Given the description of an element on the screen output the (x, y) to click on. 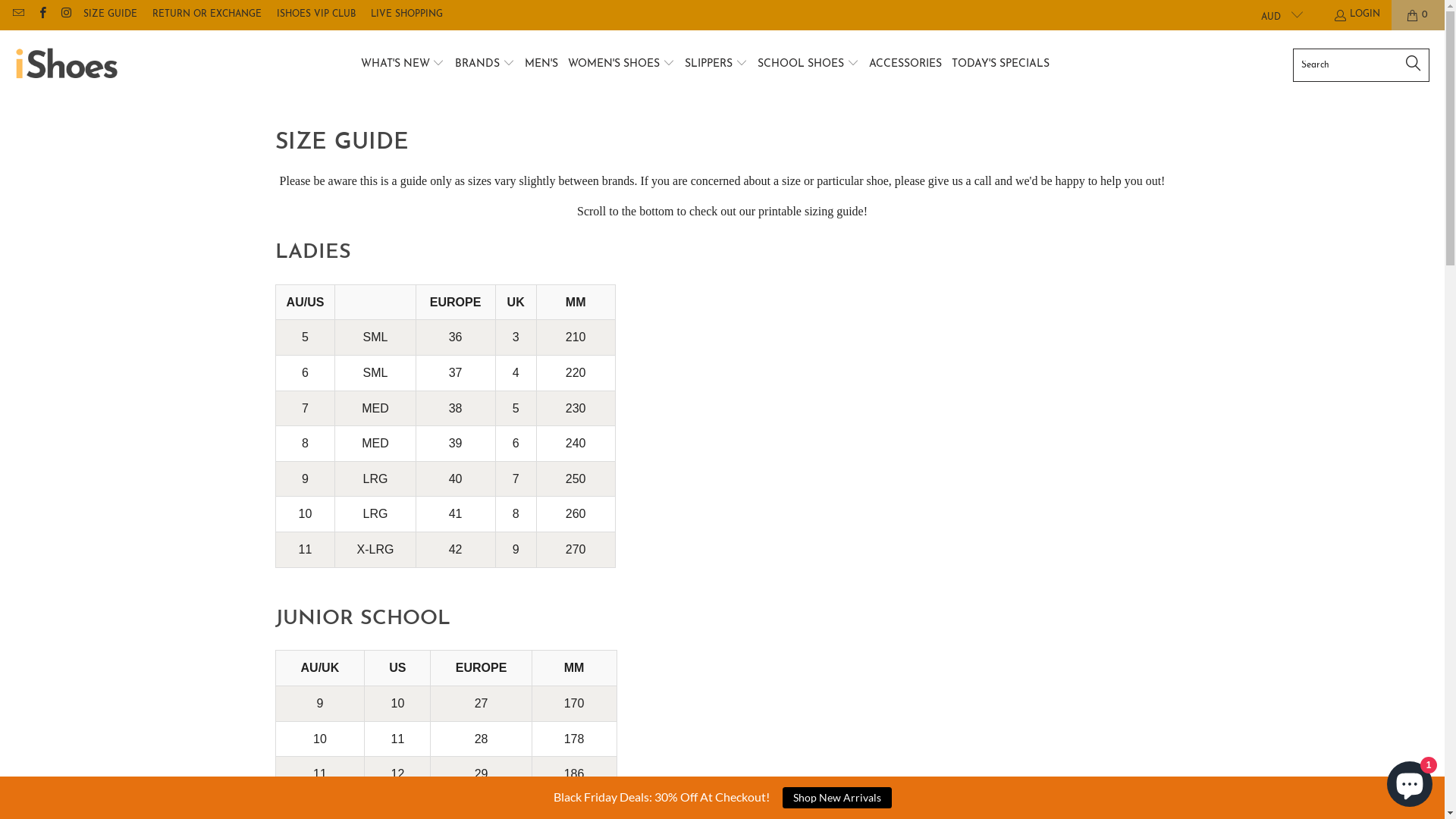
iShoes on Instagram Element type: hover (65, 14)
iShoes on Facebook Element type: hover (40, 14)
Email iShoes Element type: hover (17, 14)
Shopify online store chat Element type: hover (1409, 780)
LOGIN Element type: text (1356, 15)
TODAY'S SPECIALS Element type: text (1000, 64)
RETURN OR EXCHANGE Element type: text (206, 15)
0 Element type: text (1417, 15)
LIVE SHOPPING Element type: text (406, 15)
iShoes Element type: hover (66, 64)
AUD Element type: text (1275, 15)
ISHOES VIP CLUB Element type: text (315, 15)
ACCESSORIES Element type: text (905, 64)
MEN'S Element type: text (541, 64)
SIZE GUIDE Element type: text (110, 15)
